Given the description of an element on the screen output the (x, y) to click on. 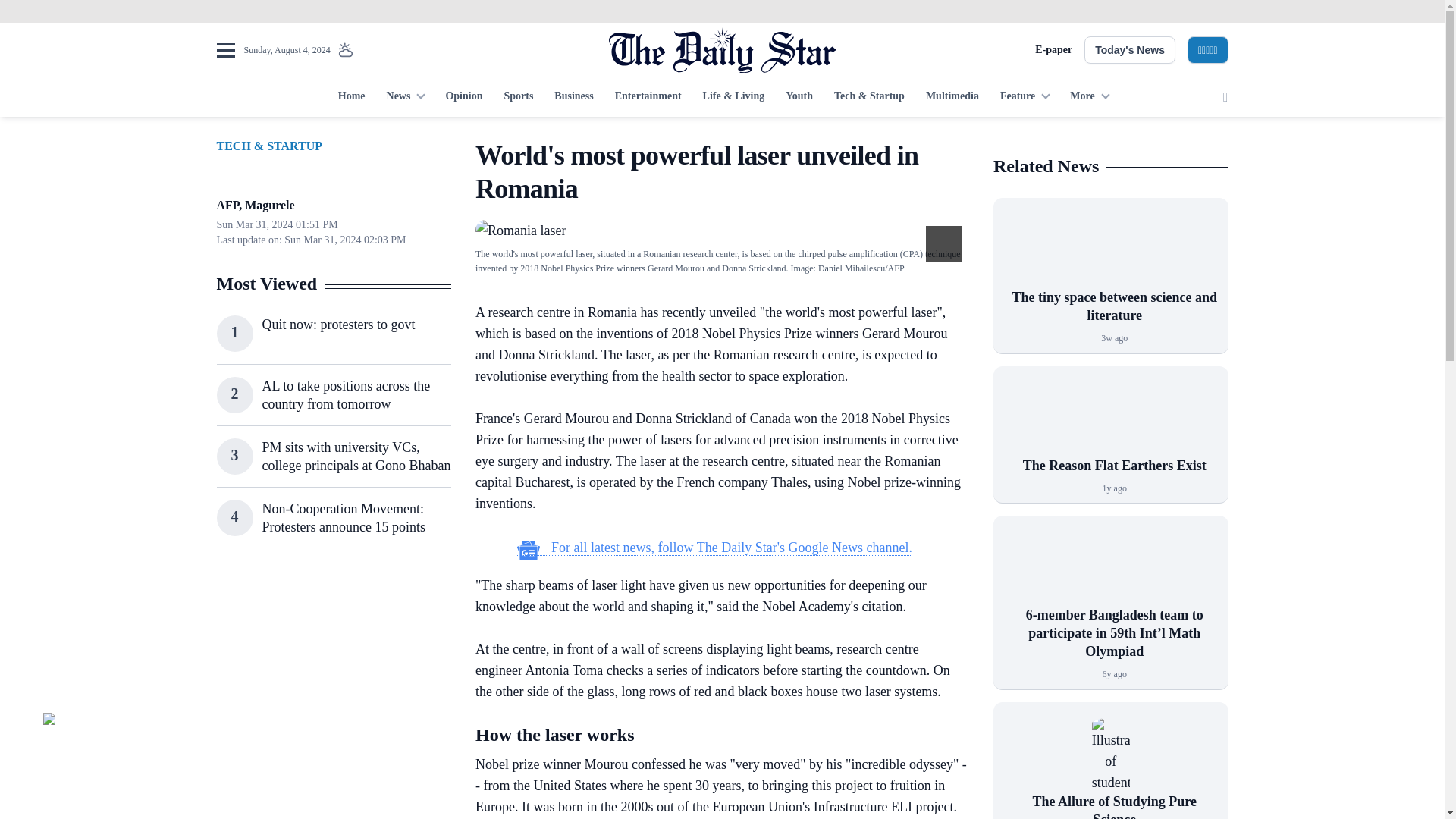
News (405, 96)
Romania laser (521, 228)
E-paper (1053, 49)
Today's News (1129, 49)
Romania laser (521, 230)
Feature (1024, 96)
Multimedia (952, 96)
Opinion (463, 96)
Entertainment (647, 96)
Sports (518, 96)
Home (351, 96)
Youth (799, 96)
Business (573, 96)
